Given the description of an element on the screen output the (x, y) to click on. 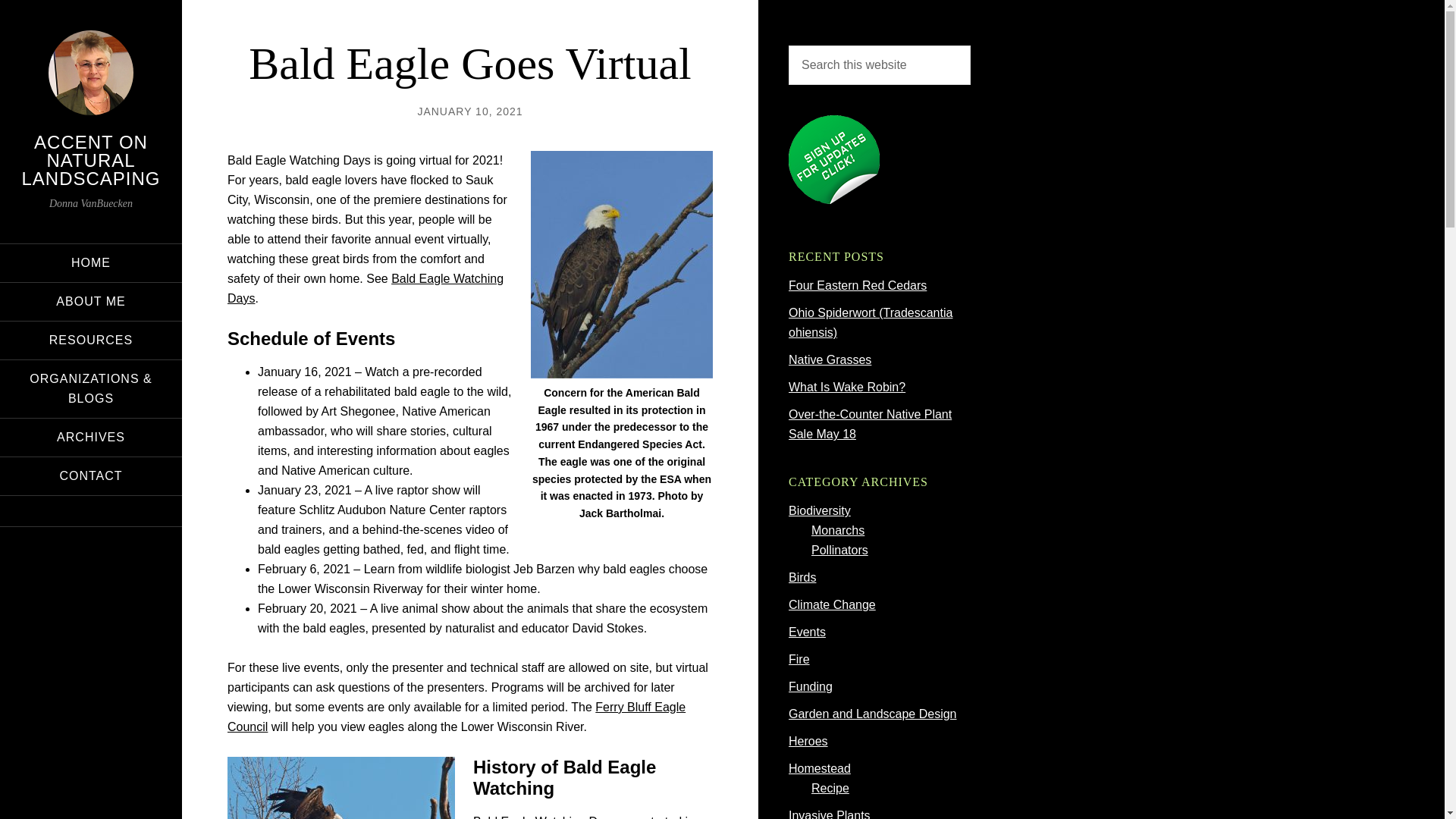
Native Grasses (829, 359)
Birds (802, 576)
Biodiversity (819, 510)
Events (807, 631)
Four Eastern Red Cedars (857, 285)
RESOURCES (91, 340)
Over-the-Counter Native Plant Sale May 18 (870, 423)
ARCHIVES (91, 437)
Pollinators (838, 549)
Bald Eagle Watching Days (365, 287)
